Given the description of an element on the screen output the (x, y) to click on. 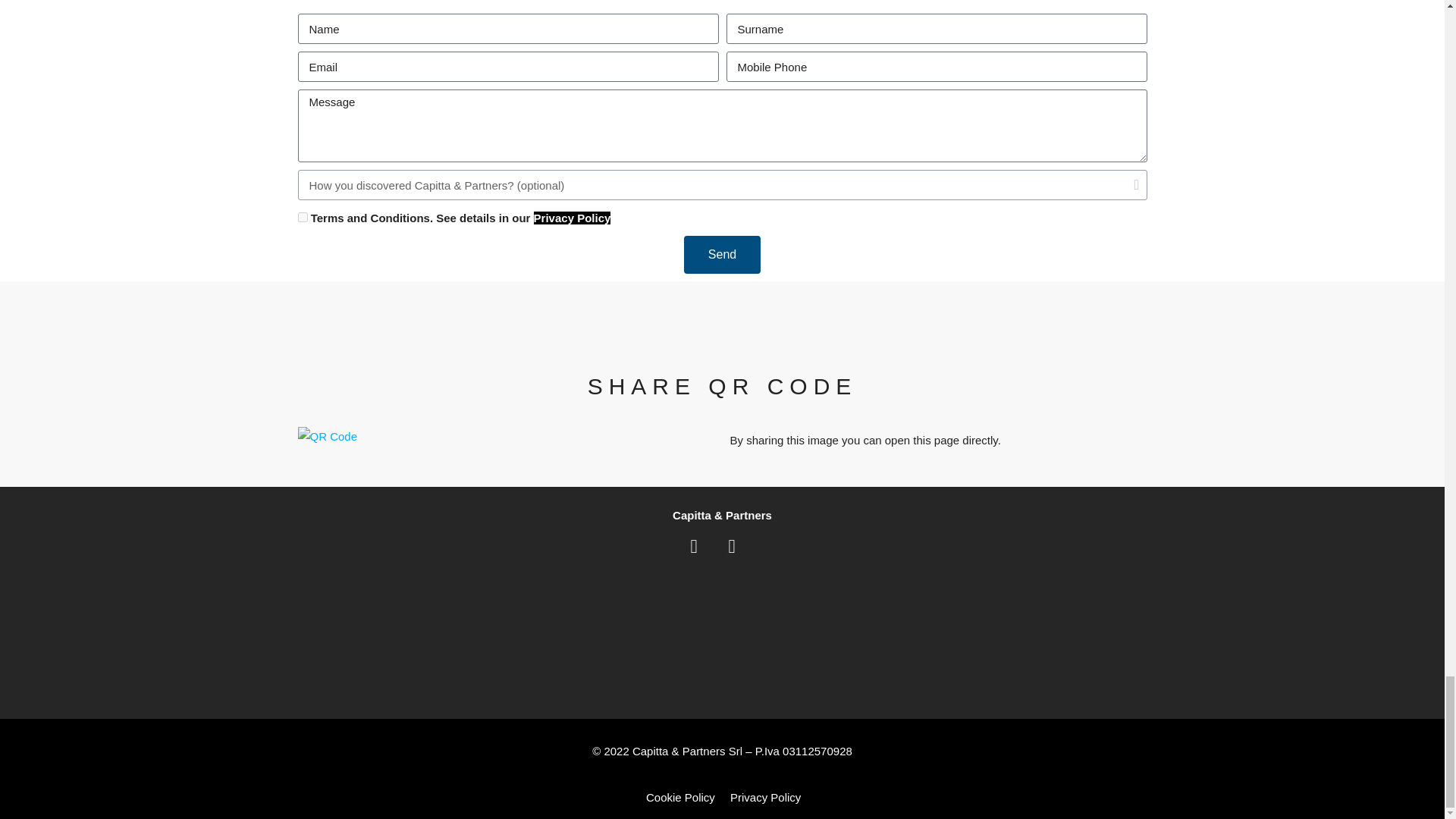
on (302, 216)
Privacy Policy (572, 217)
